Given the description of an element on the screen output the (x, y) to click on. 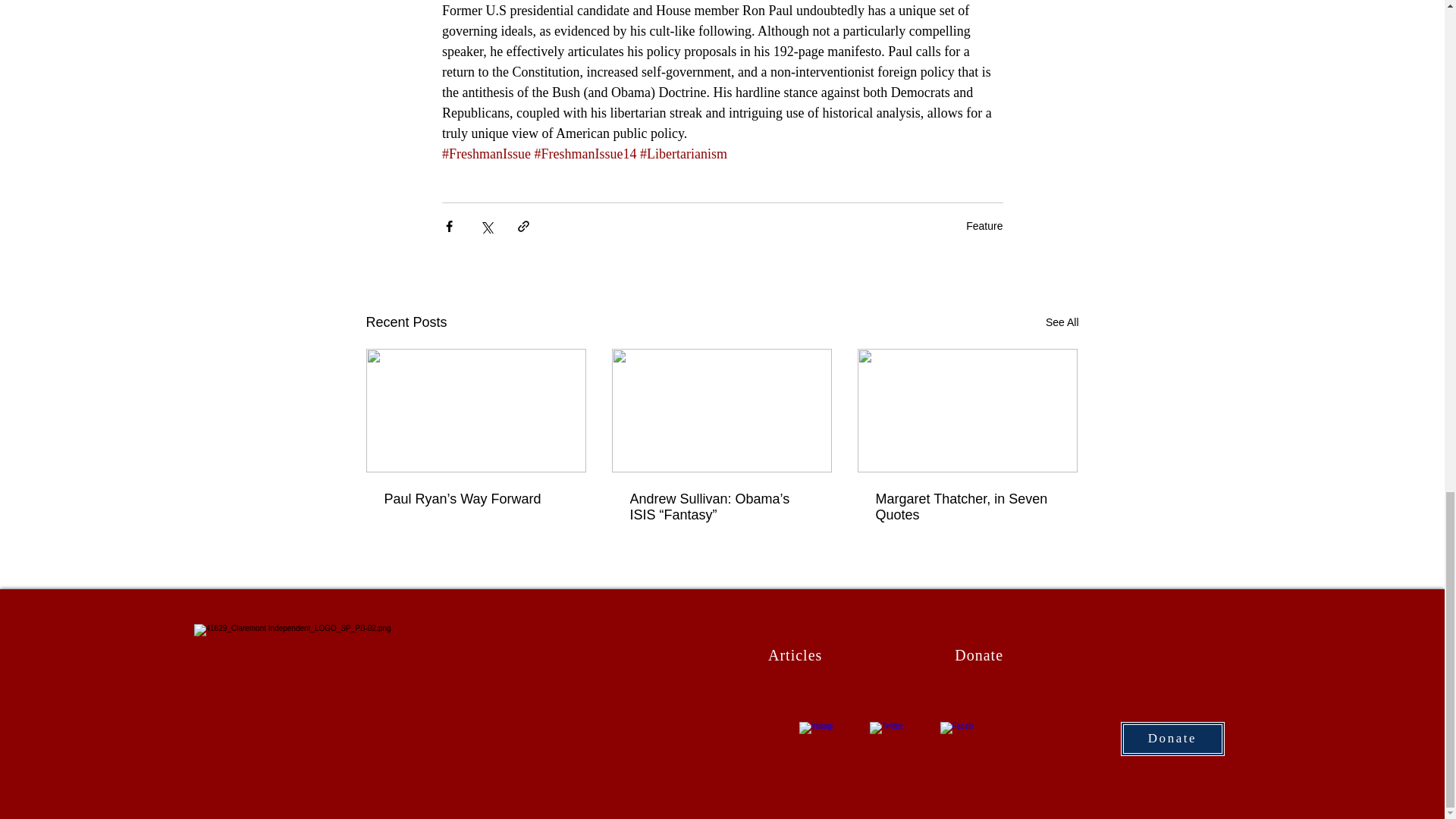
Donate (979, 654)
Margaret Thatcher, in Seven Quotes (966, 506)
Articles (794, 654)
Feature (984, 225)
Donate (1172, 738)
See All (1061, 322)
